Given the description of an element on the screen output the (x, y) to click on. 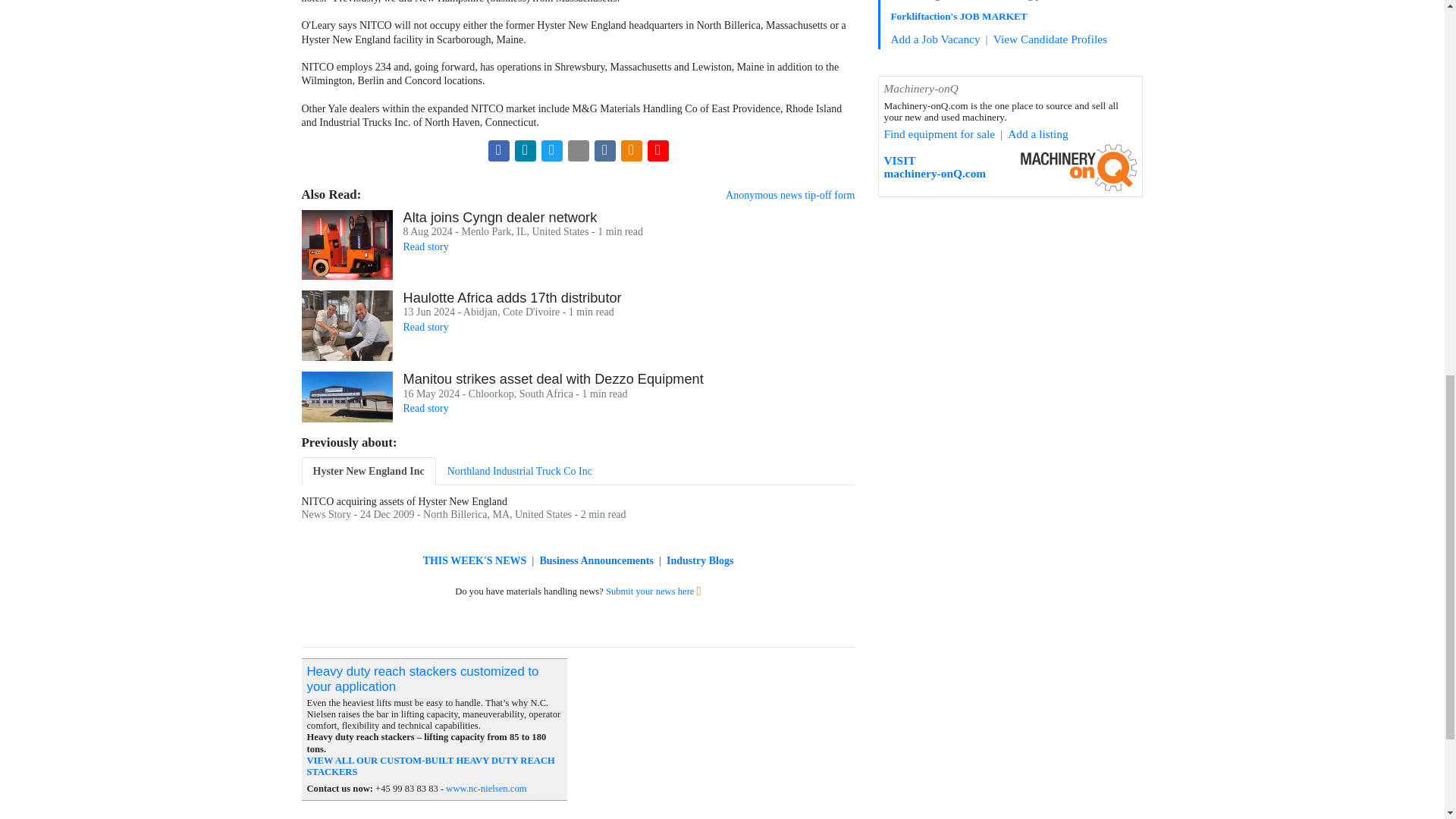
VK (604, 150)
Twitter (551, 150)
Facebook (498, 150)
OK.ru (631, 150)
Linked In (524, 150)
Reddit (657, 150)
QZone (577, 150)
